Given the description of an element on the screen output the (x, y) to click on. 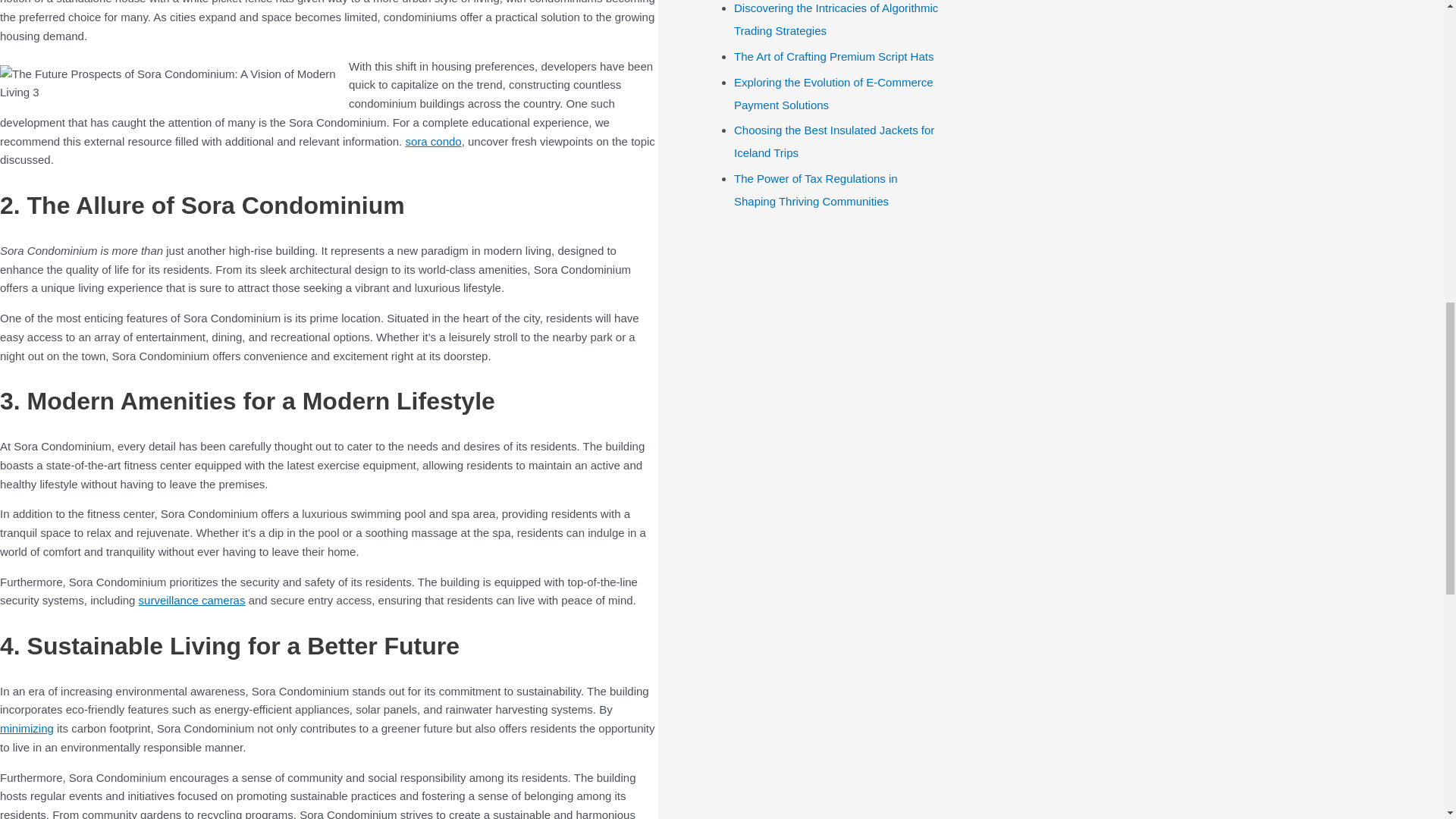
sora condo (432, 141)
Exploring the Evolution of E-Commerce Payment Solutions (833, 93)
The Power of Tax Regulations in Shaping Thriving Communities (815, 189)
minimizing (26, 727)
surveillance cameras (192, 599)
Choosing the Best Insulated Jackets for Iceland Trips (833, 140)
The Art of Crafting Premium Script Hats (833, 56)
